Given the description of an element on the screen output the (x, y) to click on. 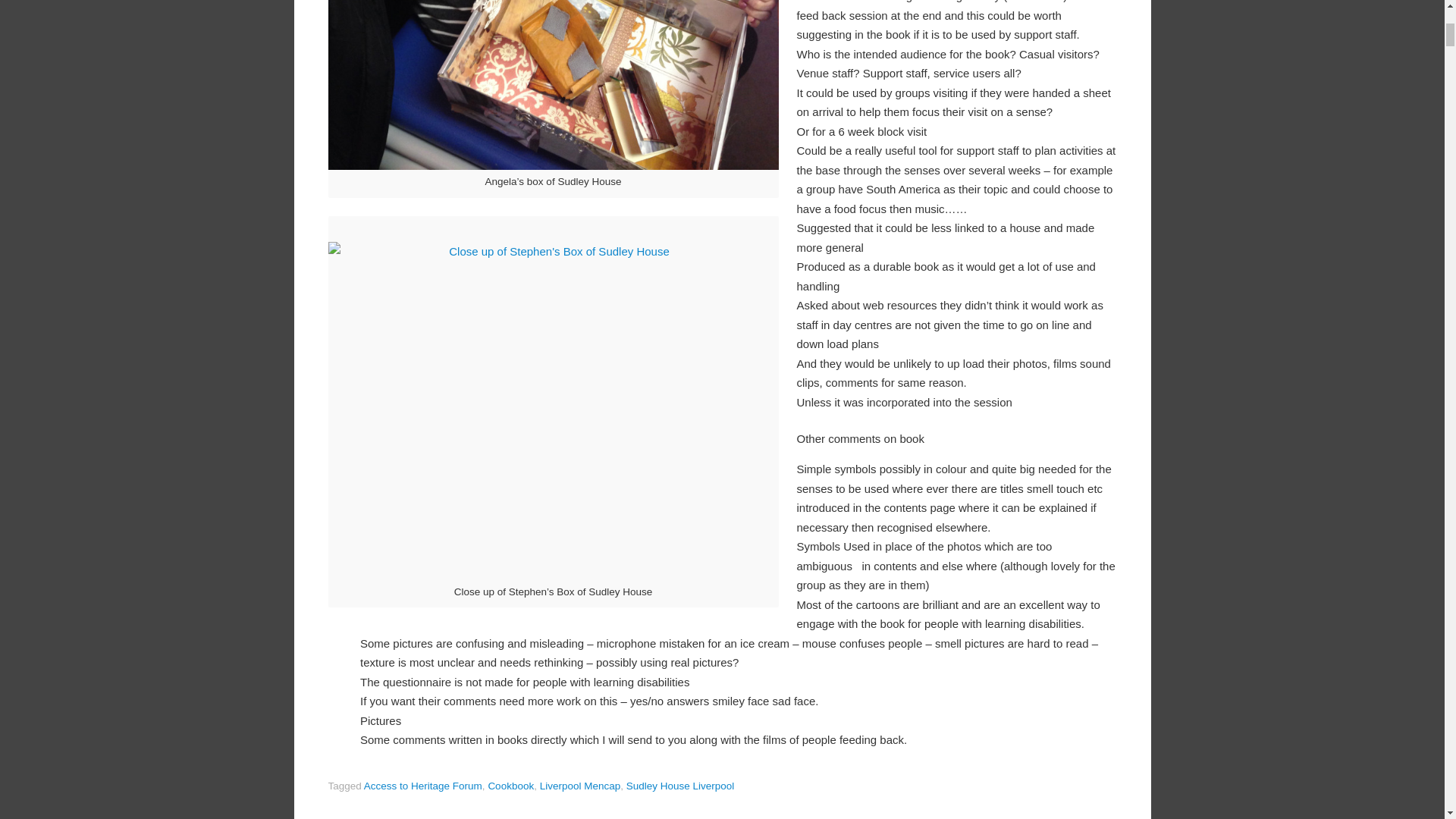
Sudley House Liverpool (680, 785)
Access to Heritage Forum (422, 785)
Cookbook (510, 785)
Liverpool Mencap (580, 785)
